Given the description of an element on the screen output the (x, y) to click on. 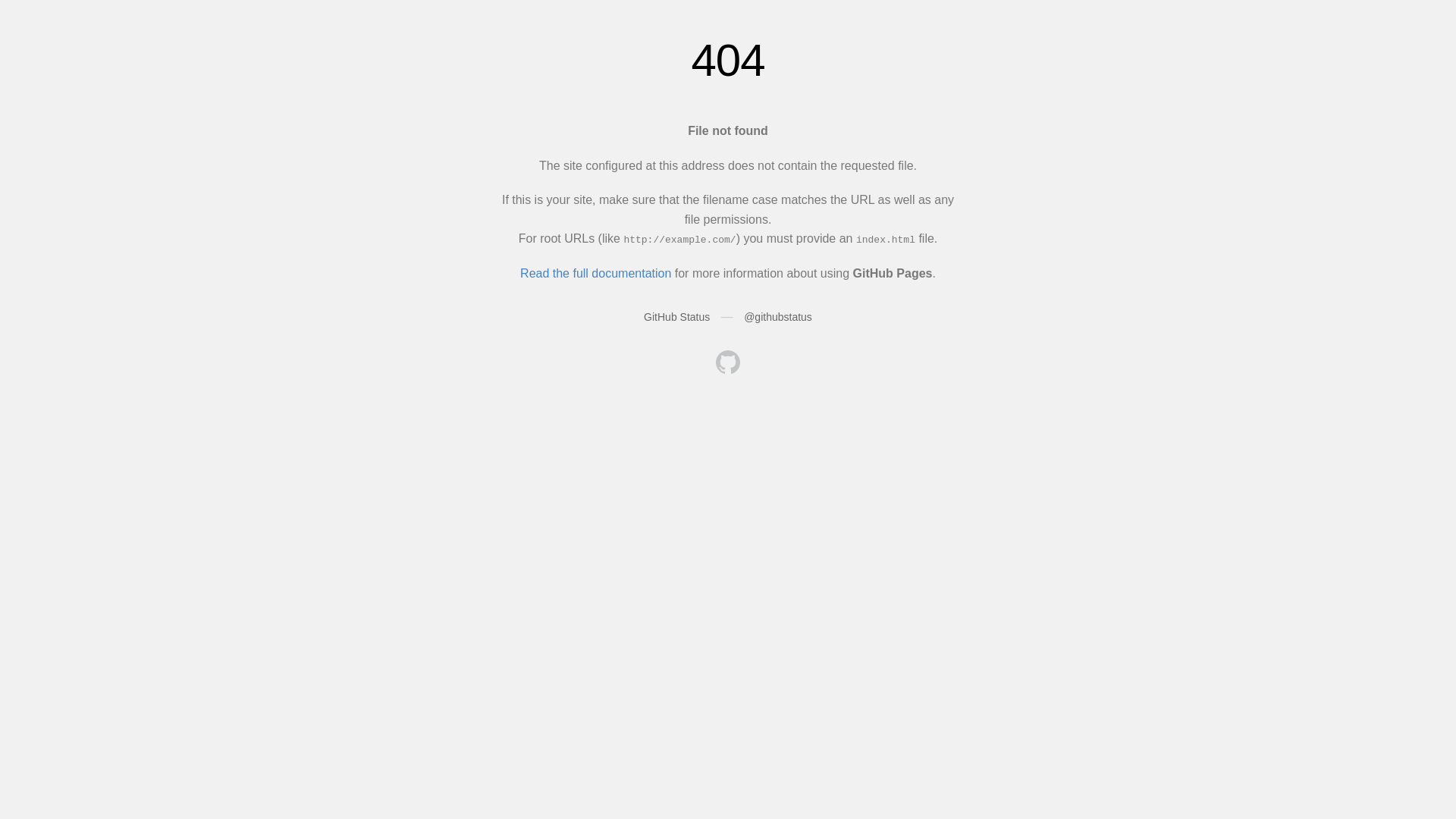
@githubstatus Element type: text (777, 316)
GitHub Status Element type: text (676, 316)
Read the full documentation Element type: text (595, 272)
